Given the description of an element on the screen output the (x, y) to click on. 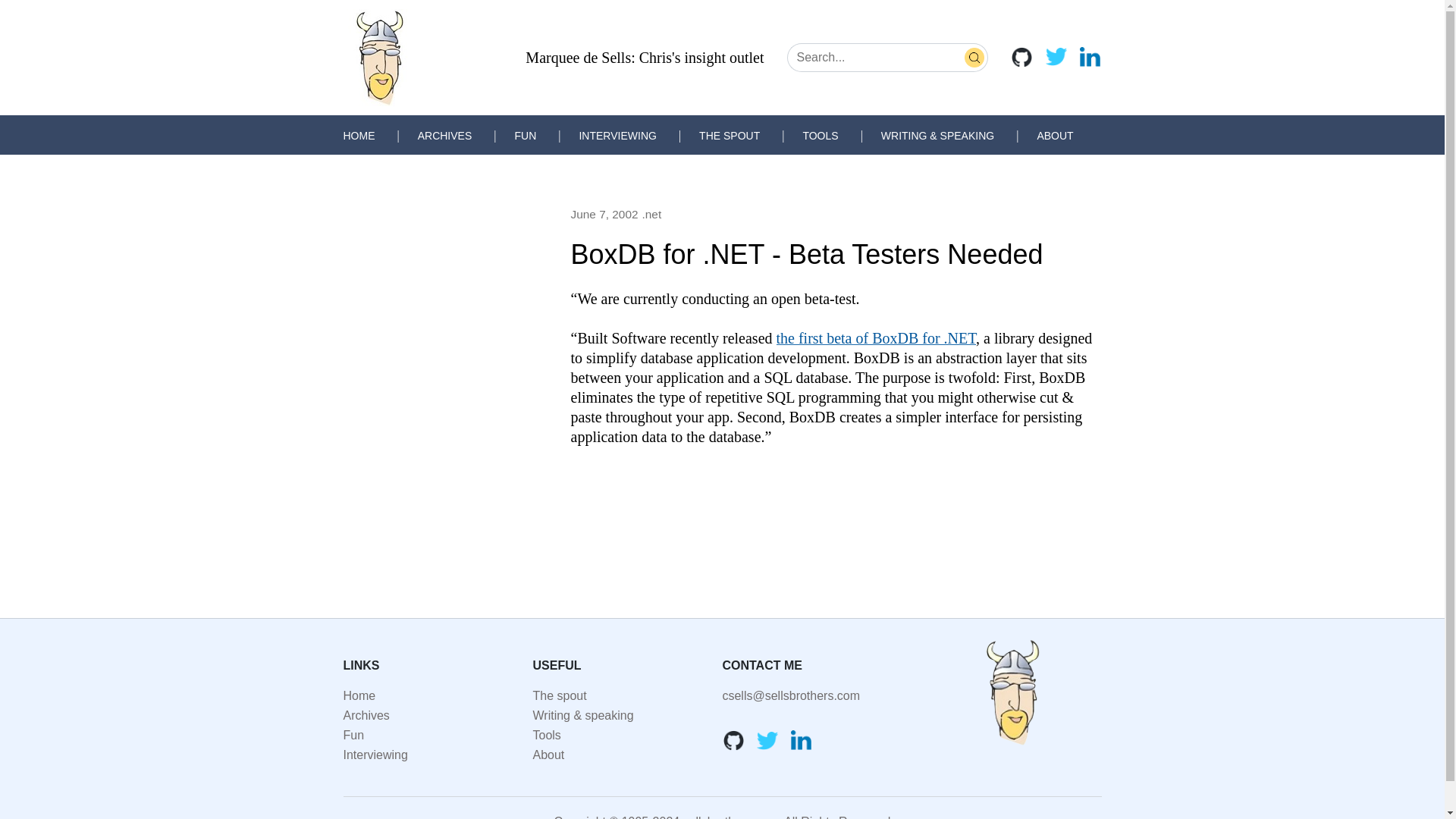
TOOLS (820, 135)
GitHub (733, 739)
THE SPOUT (729, 135)
HOME (358, 135)
Fun (353, 735)
ABOUT (1054, 135)
LinkedIn (800, 739)
June 7, 2002 (603, 214)
Twitter (766, 739)
LinkedIn (1089, 56)
